Given the description of an element on the screen output the (x, y) to click on. 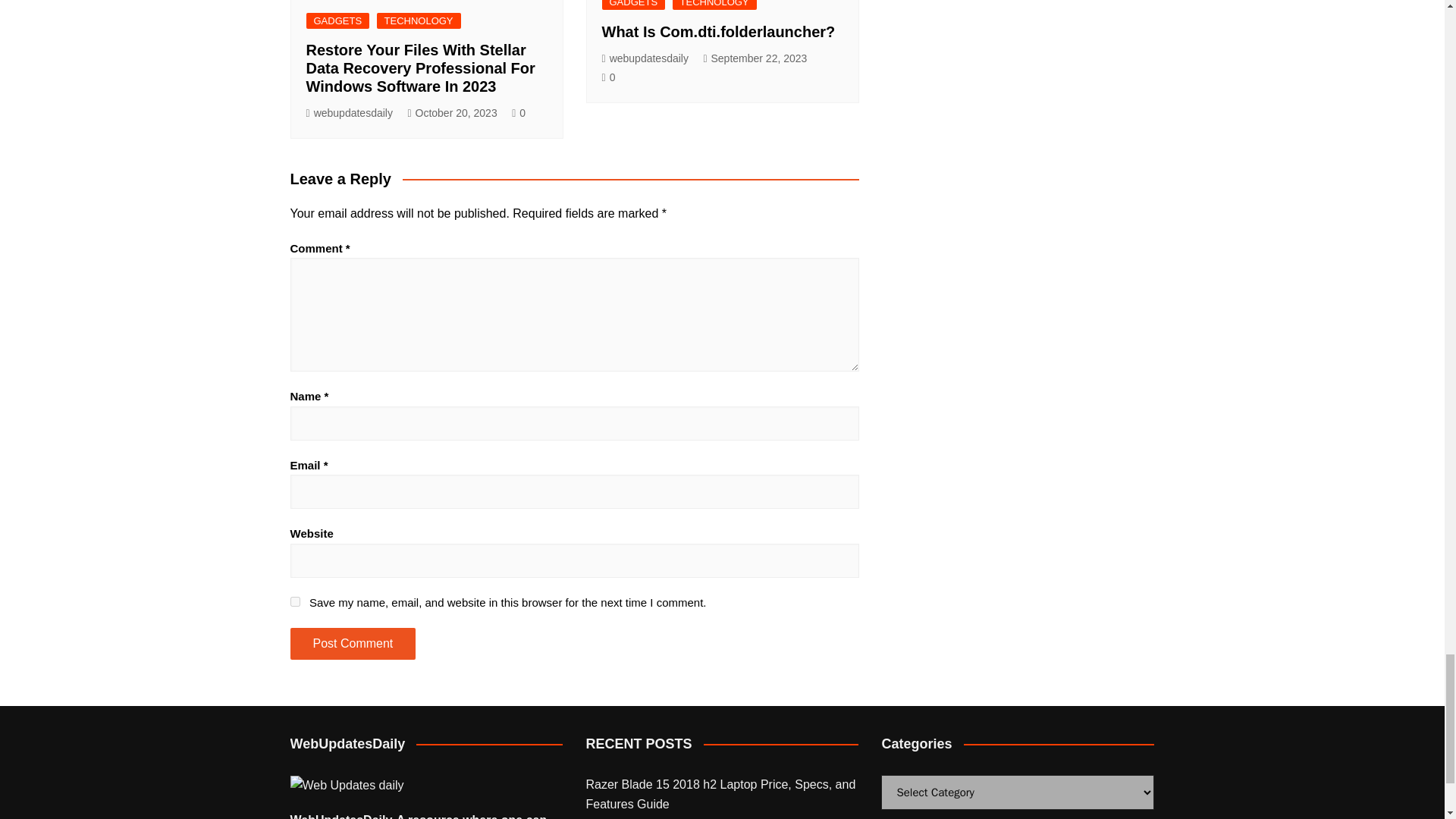
yes (294, 601)
Post Comment (351, 644)
